Given the description of an element on the screen output the (x, y) to click on. 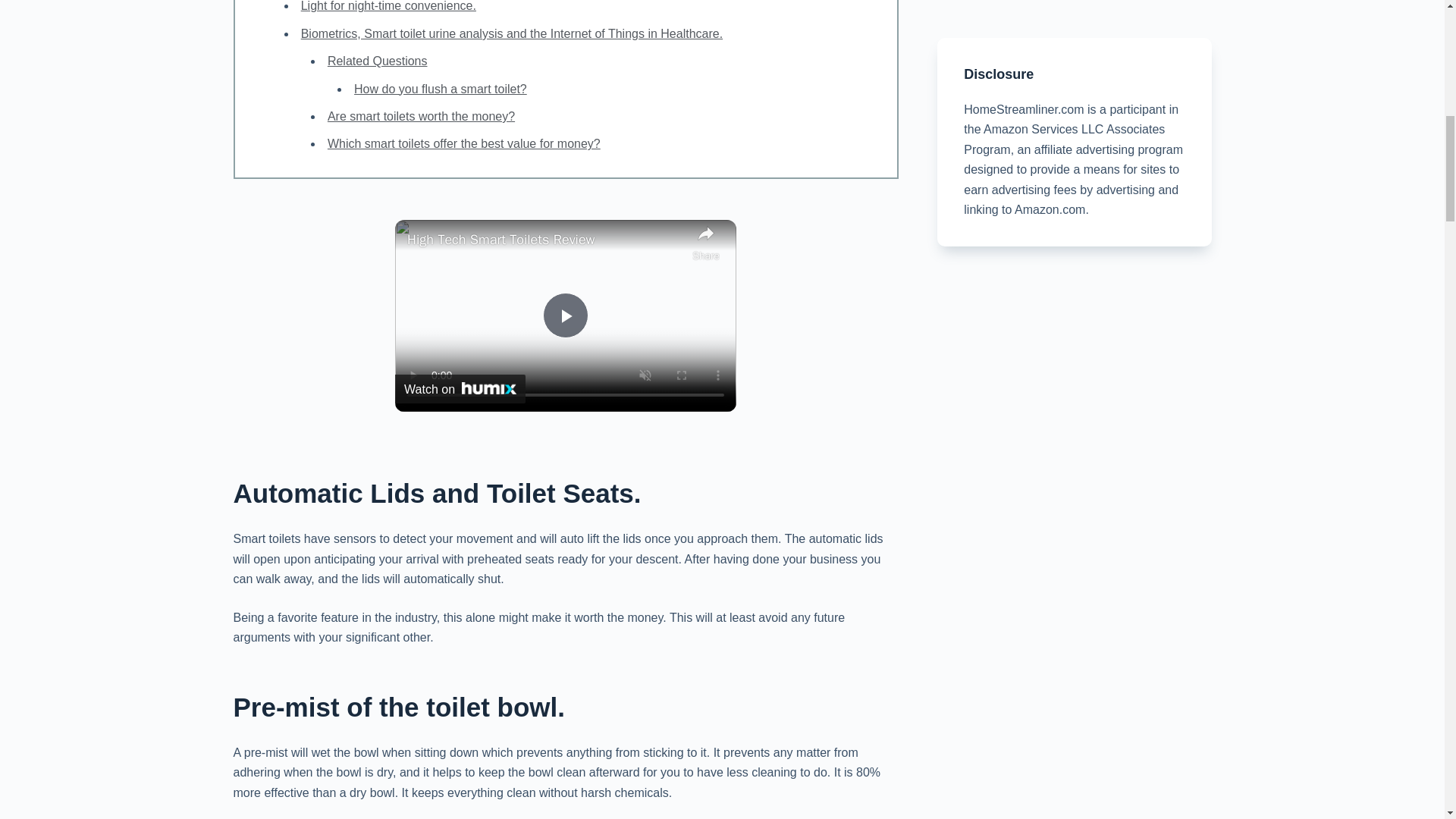
Play Video (565, 315)
